Given the description of an element on the screen output the (x, y) to click on. 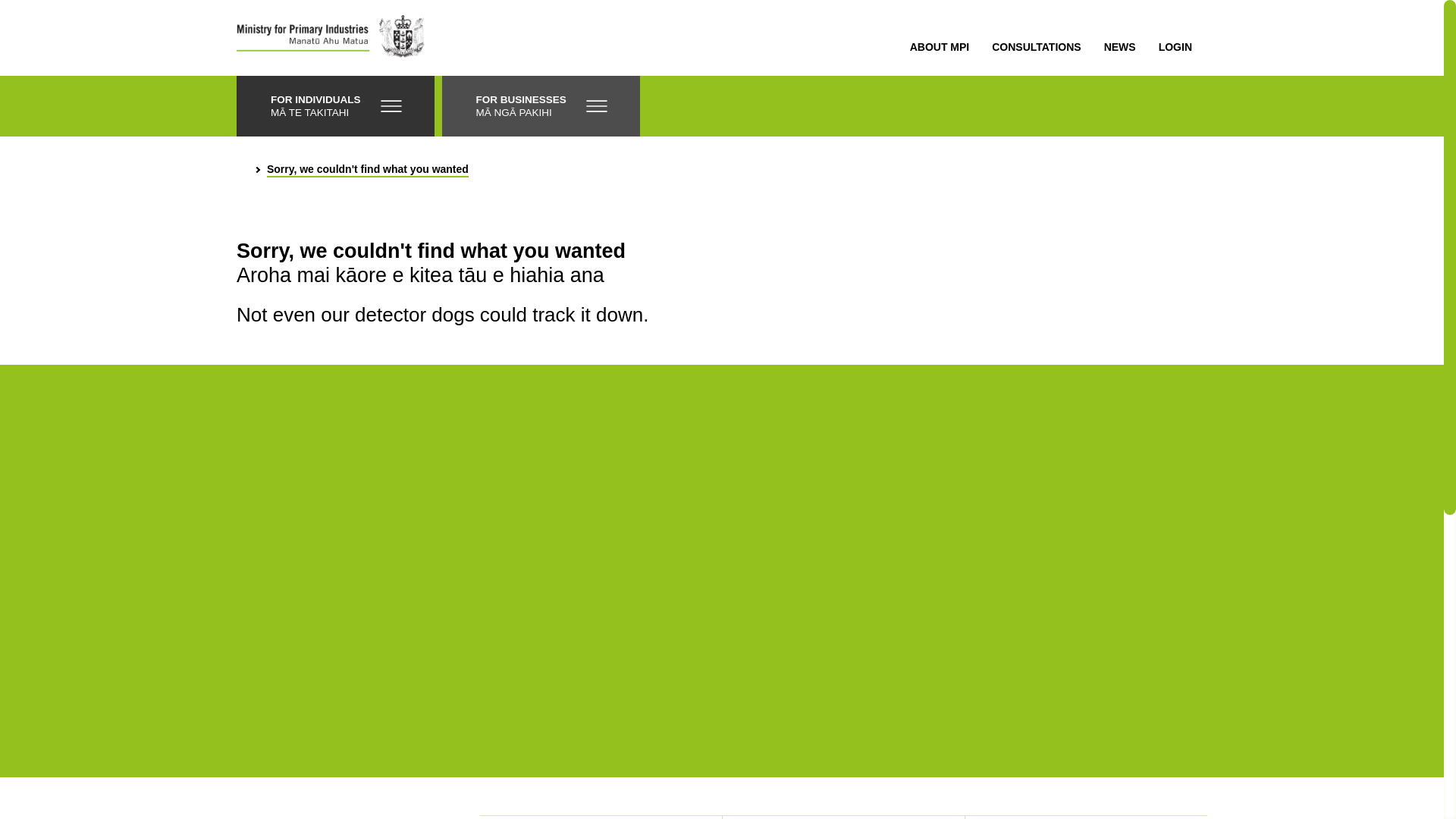
Ministry for Primary Industries (330, 38)
Home (1086, 817)
MPI Home (242, 169)
CONSULTATIONS (1035, 46)
Contact us (842, 817)
LOGIN (1175, 46)
NEWS (1119, 46)
ABOUT MPI (939, 46)
Skip to main content (32, 25)
Search (601, 817)
